Given the description of an element on the screen output the (x, y) to click on. 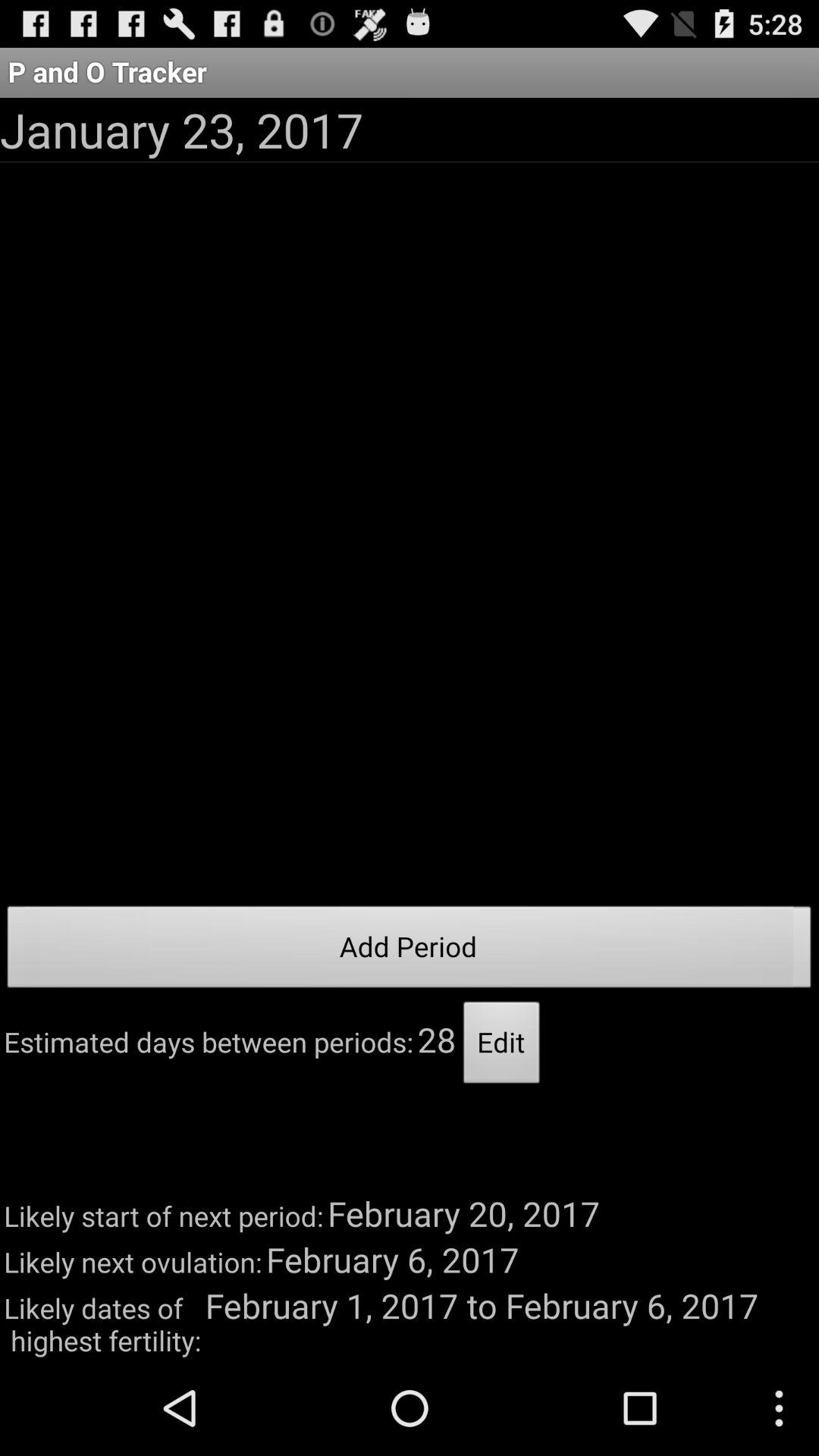
scroll until edit button (501, 1046)
